Given the description of an element on the screen output the (x, y) to click on. 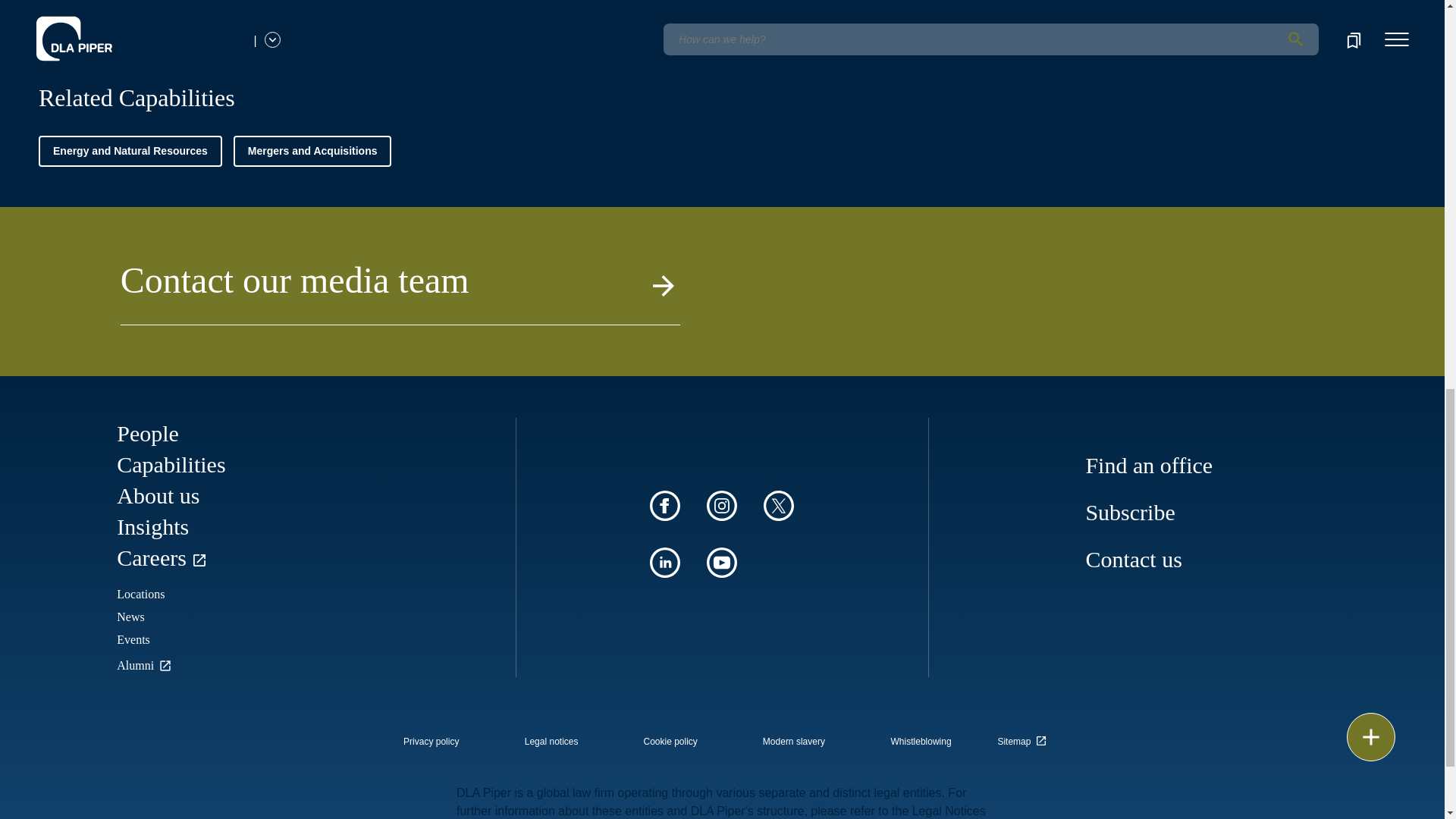
internal (549, 741)
internal (793, 741)
internal (430, 741)
internal (670, 741)
external (1024, 737)
internal (920, 741)
